Given the description of an element on the screen output the (x, y) to click on. 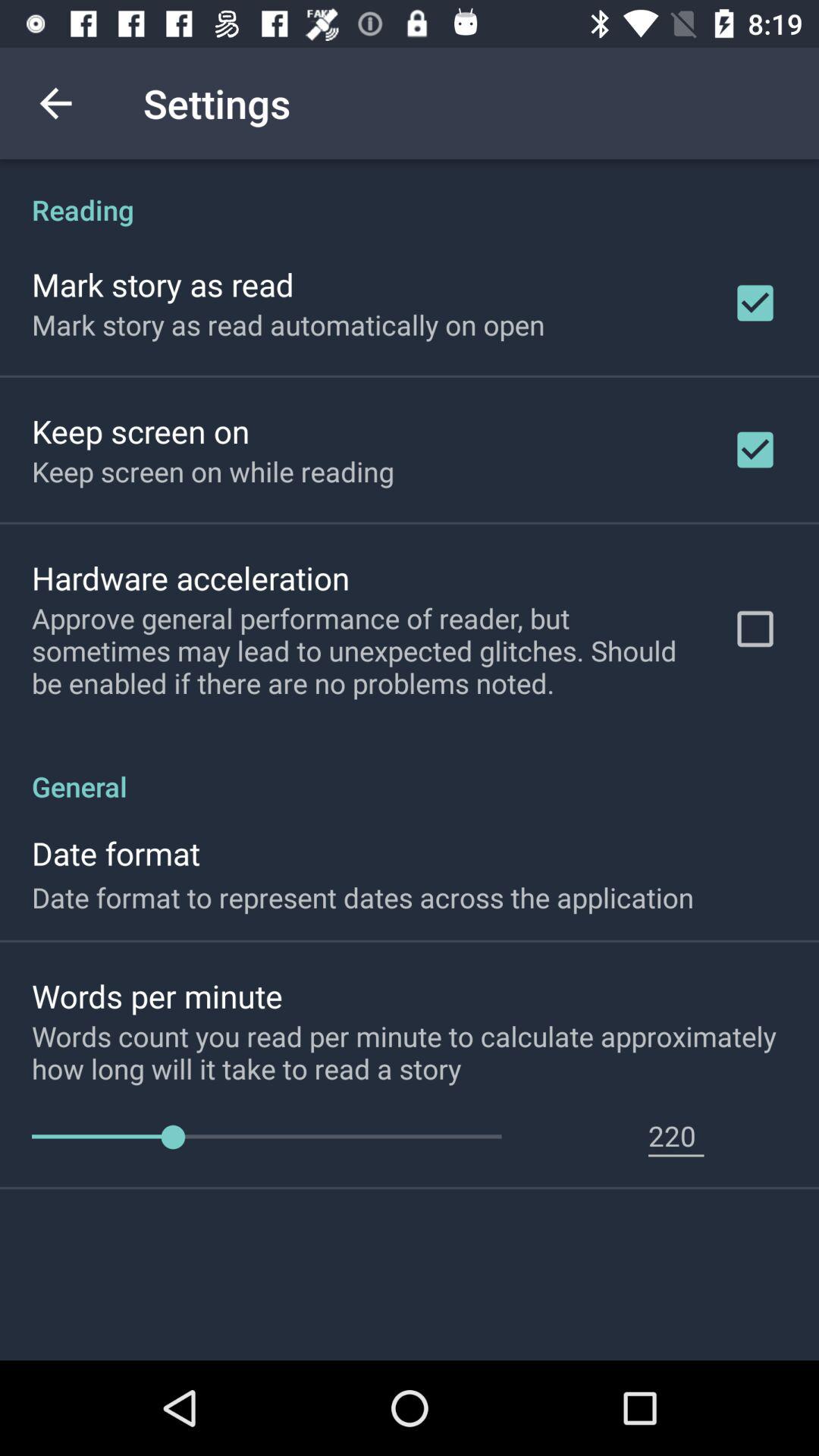
launch item above general icon (361, 650)
